Given the description of an element on the screen output the (x, y) to click on. 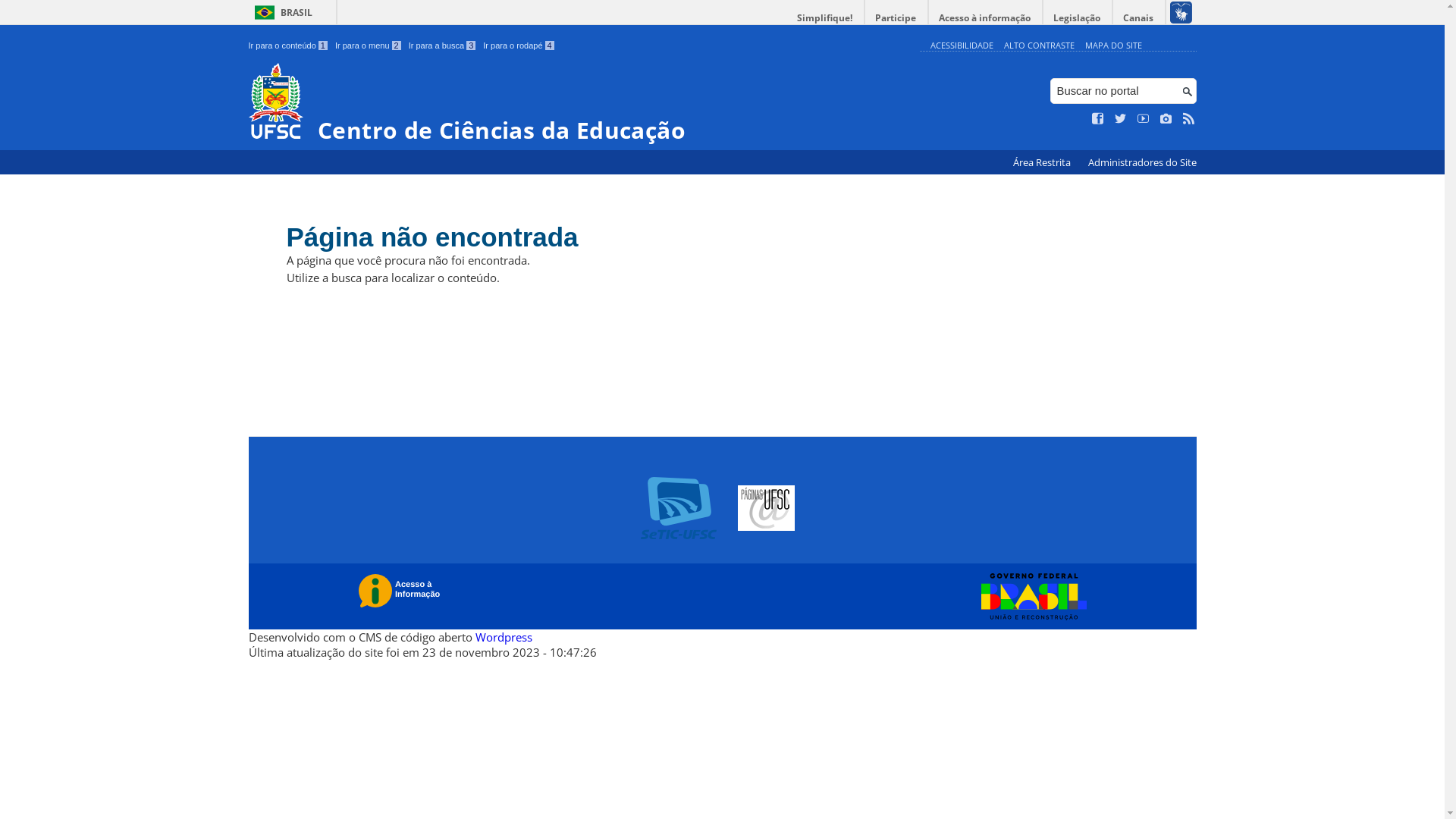
MAPA DO SITE Element type: text (1112, 44)
ACESSIBILIDADE Element type: text (960, 44)
Veja no Instagram Element type: hover (1166, 118)
Curta no Facebook Element type: hover (1098, 118)
Governo Federal Element type: hover (1029, 596)
BRASIL Element type: text (280, 12)
ALTO CONTRASTE Element type: text (1039, 44)
Canais Element type: text (1138, 18)
Participe Element type: text (895, 18)
Ir para a busca 3 Element type: text (442, 45)
Administradores do Site Element type: text (1141, 162)
Wordpress Element type: text (502, 636)
Ir para o menu 2 Element type: text (368, 45)
Siga no Twitter Element type: hover (1120, 118)
Simplifique! Element type: text (825, 18)
